Given the description of an element on the screen output the (x, y) to click on. 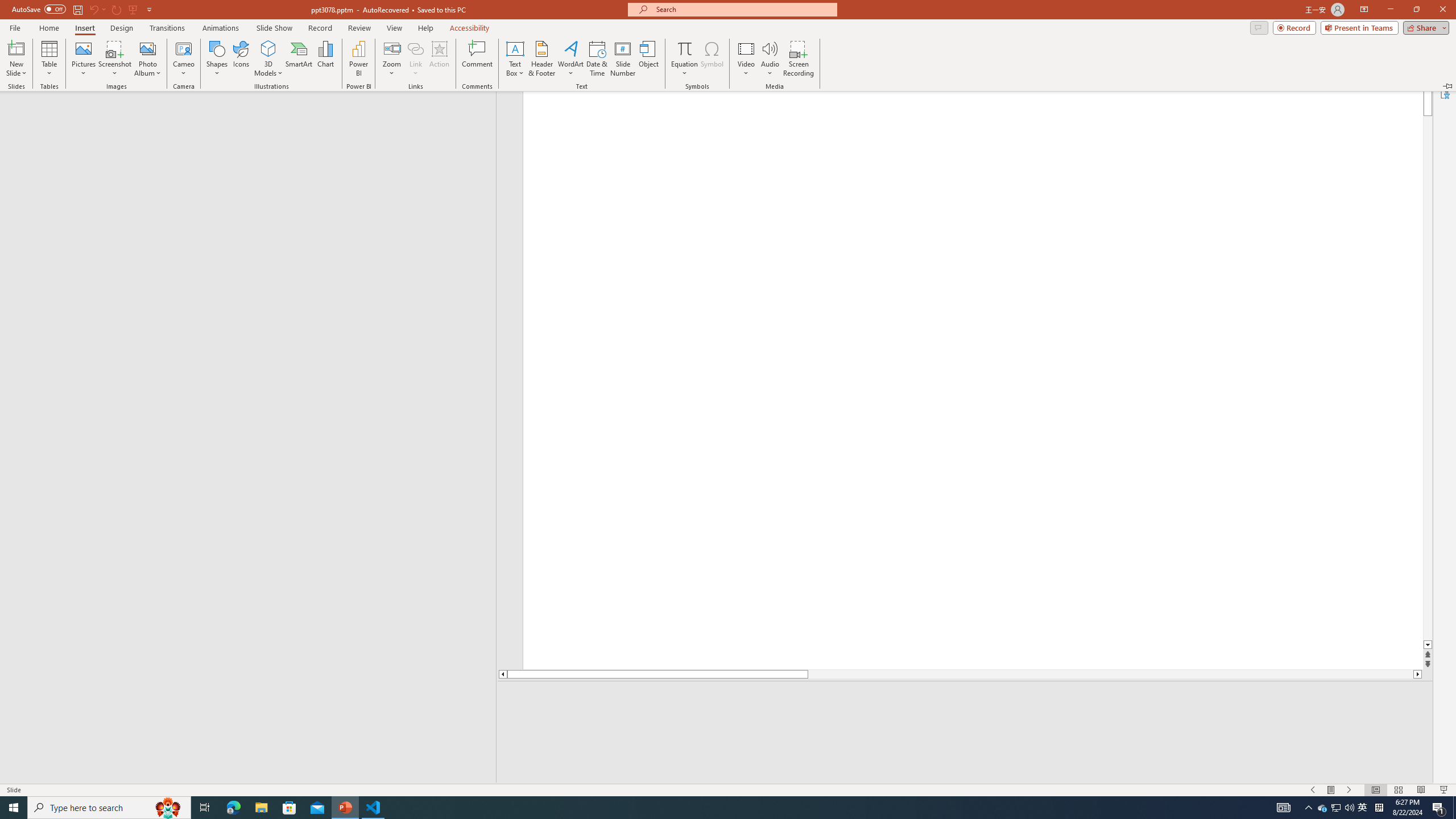
File Explorer (1362, 807)
Action Center, 1 new notification (261, 807)
Q2790: 100% (1439, 807)
Task View (1349, 807)
Start (204, 807)
Slide Notes (13, 807)
